Given the description of an element on the screen output the (x, y) to click on. 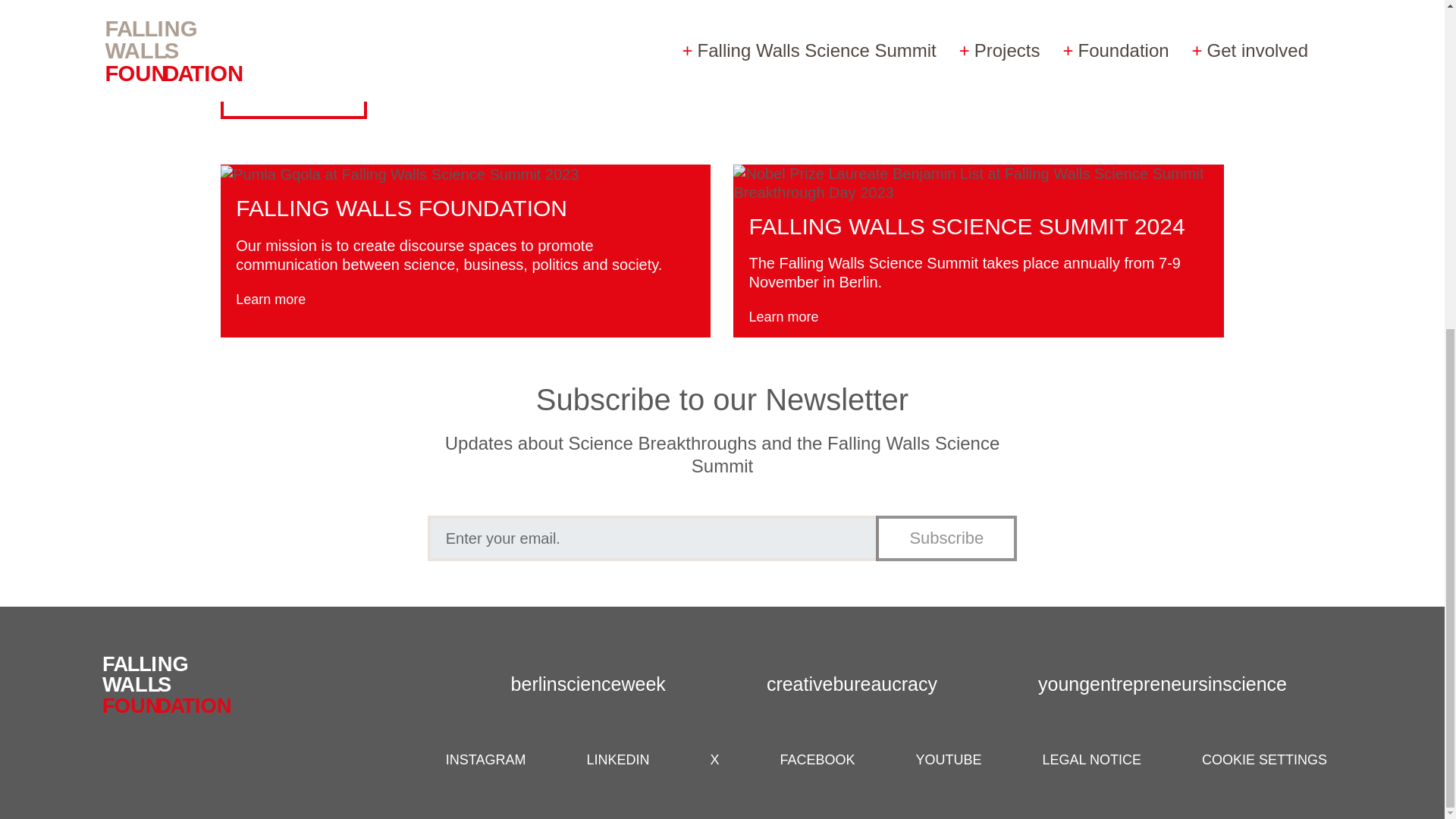
youngentrepreneursinscience.com (1181, 684)
Home (175, 684)
creativebureaucracy (871, 684)
Subscribe (946, 538)
berlinscienceweek (608, 684)
berlinscienceweek.com (608, 684)
Contact us (293, 95)
Cookie settings (1264, 760)
Learn more (282, 299)
Learn more (794, 316)
FALLING WALLS SCIENCE SUMMIT 2024 (966, 226)
youngentrepreneursinscience (1181, 684)
FALLING WALLS FOUNDATION (401, 207)
creativebureaucracy.org (871, 684)
